Given the description of an element on the screen output the (x, y) to click on. 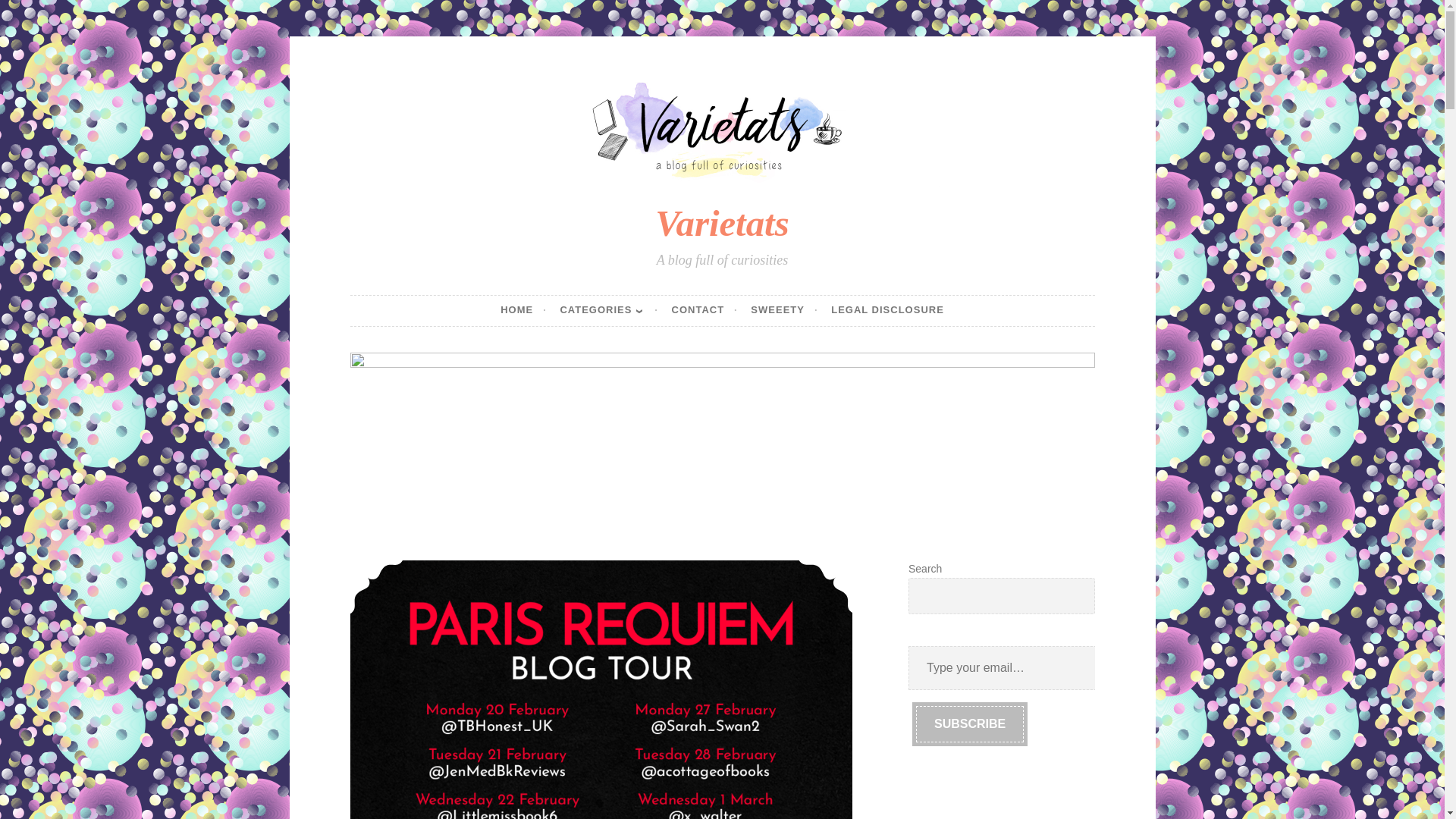
CATEGORIES (608, 310)
Varietats (722, 223)
CONTACT (704, 310)
LEGAL DISCLOSURE (887, 310)
SWEEETY (783, 310)
HOME (523, 310)
Please fill in this field. (1002, 668)
